Given the description of an element on the screen output the (x, y) to click on. 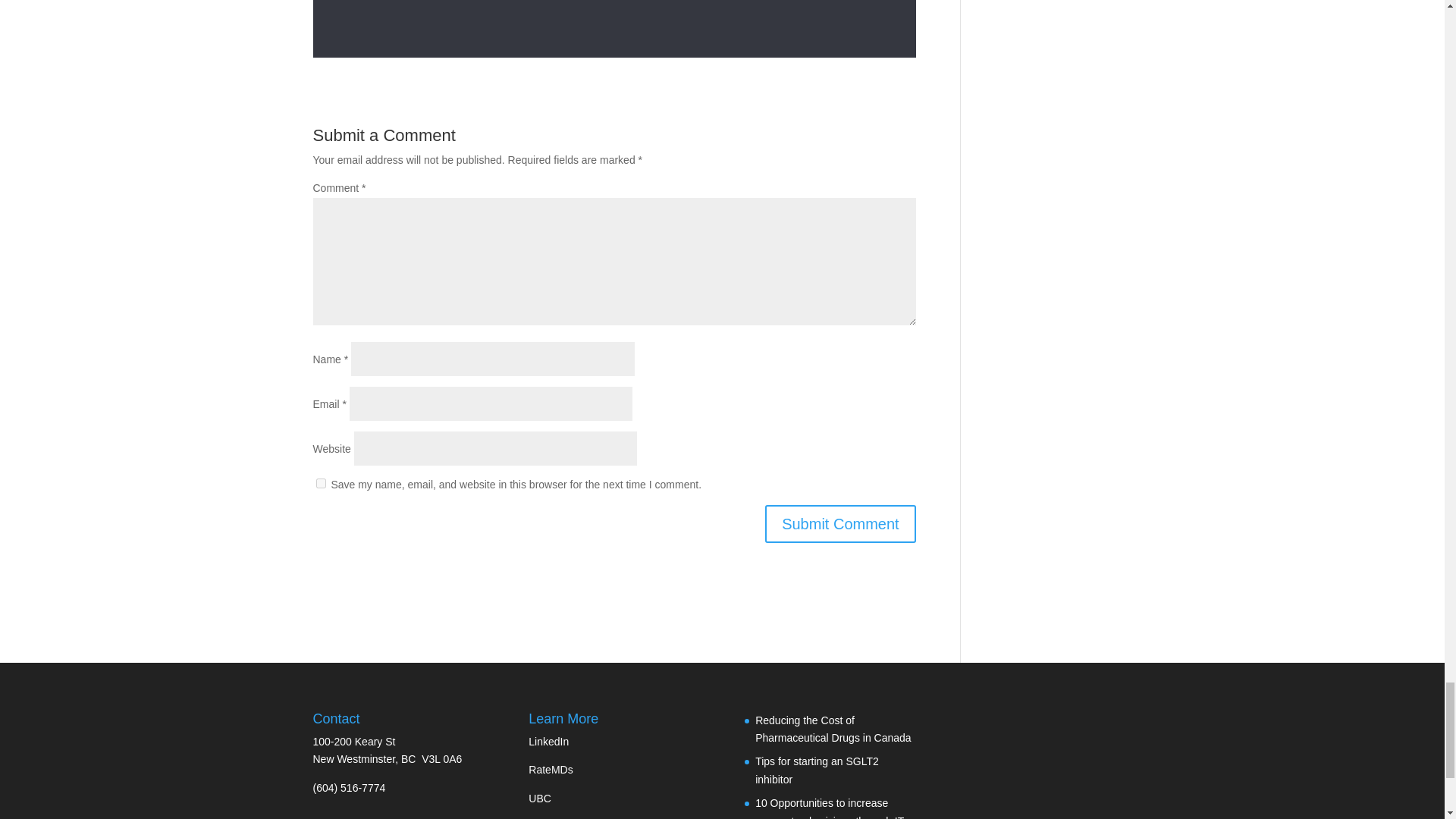
Tips for starting an SGLT2 inhibitor (817, 770)
Submit Comment (840, 523)
Reducing the Cost of Pharmaceutical Drugs in Canada (833, 729)
RateMDs (550, 769)
yes (319, 483)
Submit Comment (840, 523)
LinkedIn (548, 741)
UBC (539, 798)
